Given the description of an element on the screen output the (x, y) to click on. 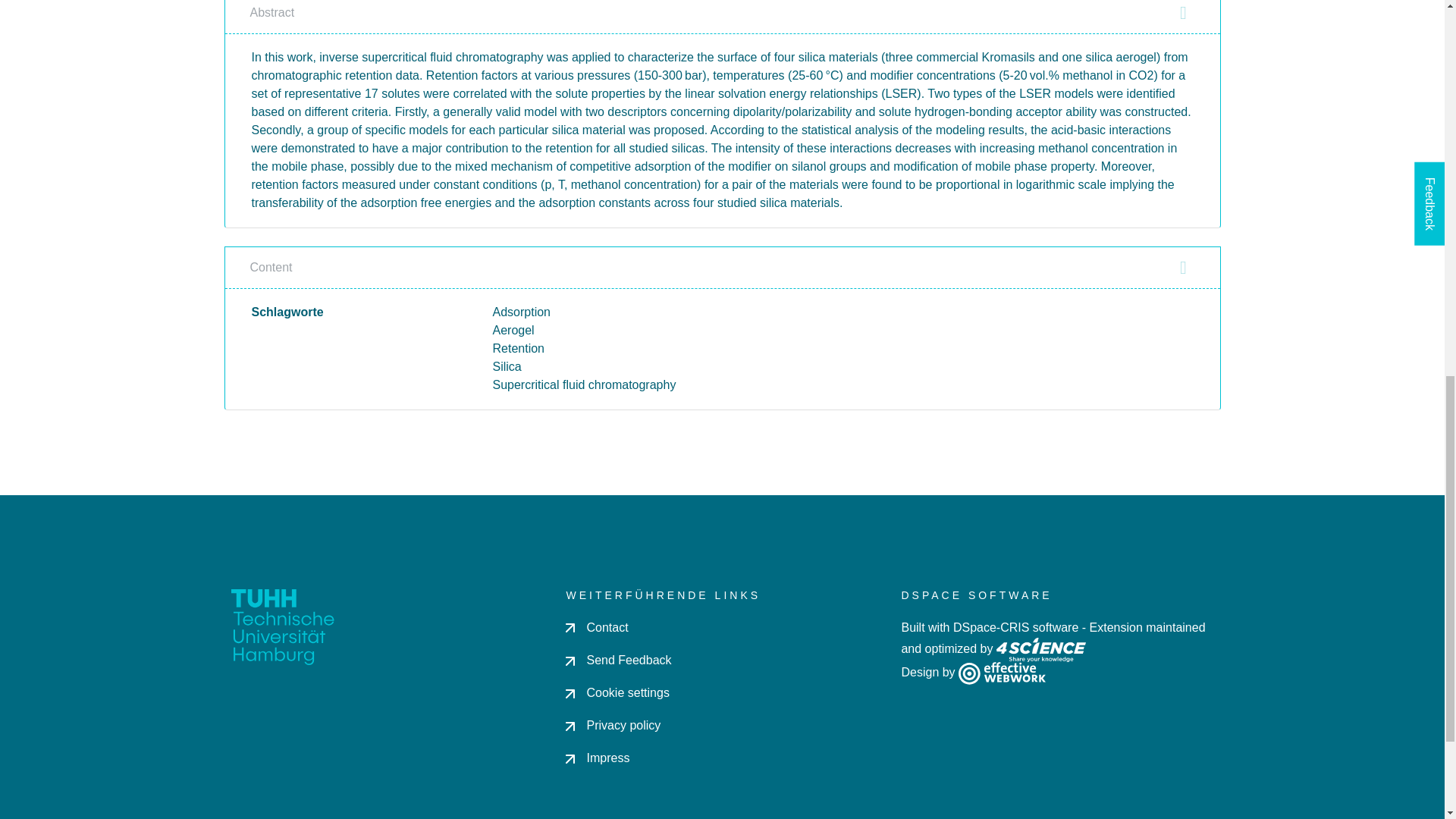
Close section (1183, 13)
effective webwork GmbH Hamburg (1001, 671)
Close section (1183, 267)
